Given the description of an element on the screen output the (x, y) to click on. 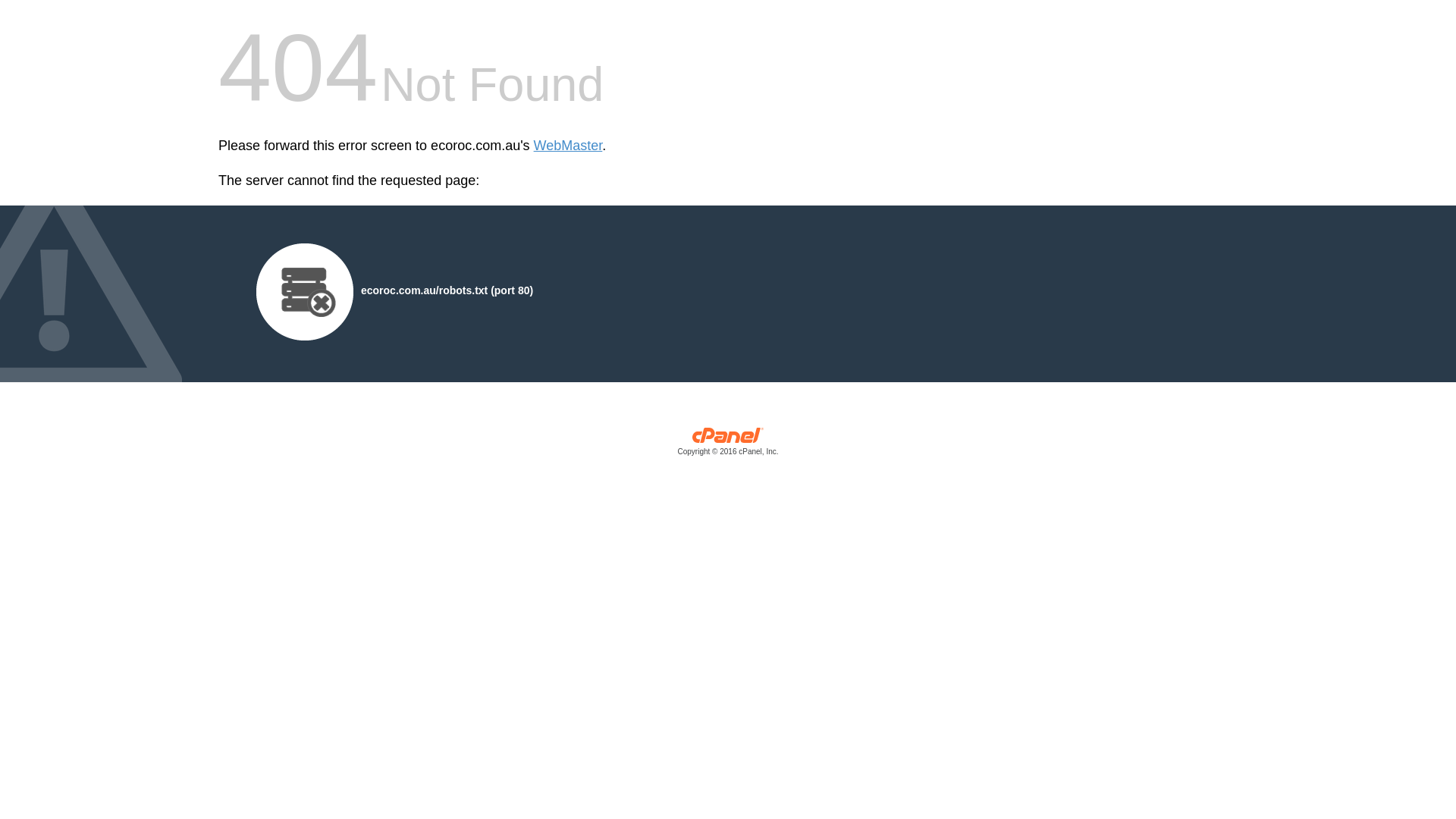
WebMaster Element type: text (567, 145)
